Given the description of an element on the screen output the (x, y) to click on. 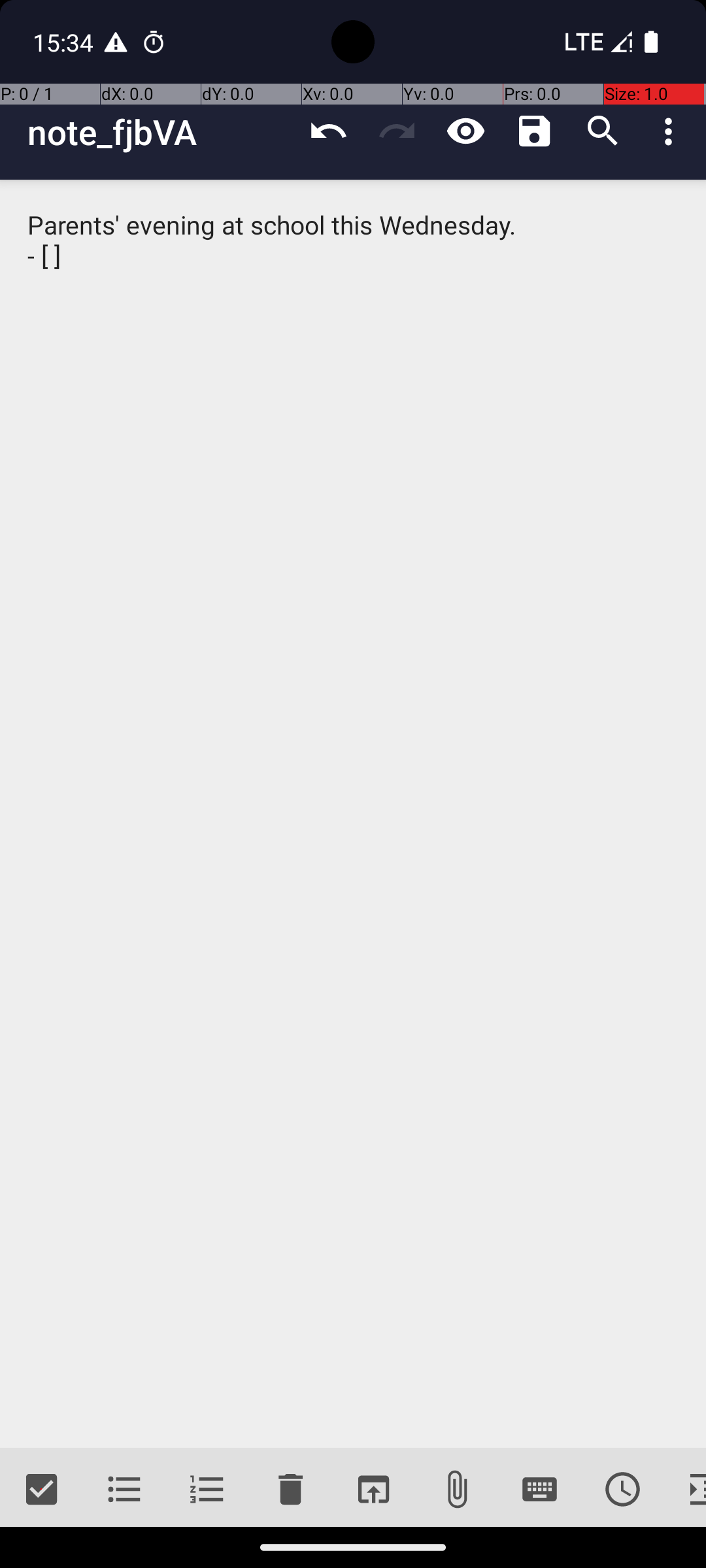
note_fjbVA Element type: android.widget.TextView (160, 131)
Parents' evening at school this Wednesday.
- [ ]  Element type: android.widget.EditText (353, 813)
